Given the description of an element on the screen output the (x, y) to click on. 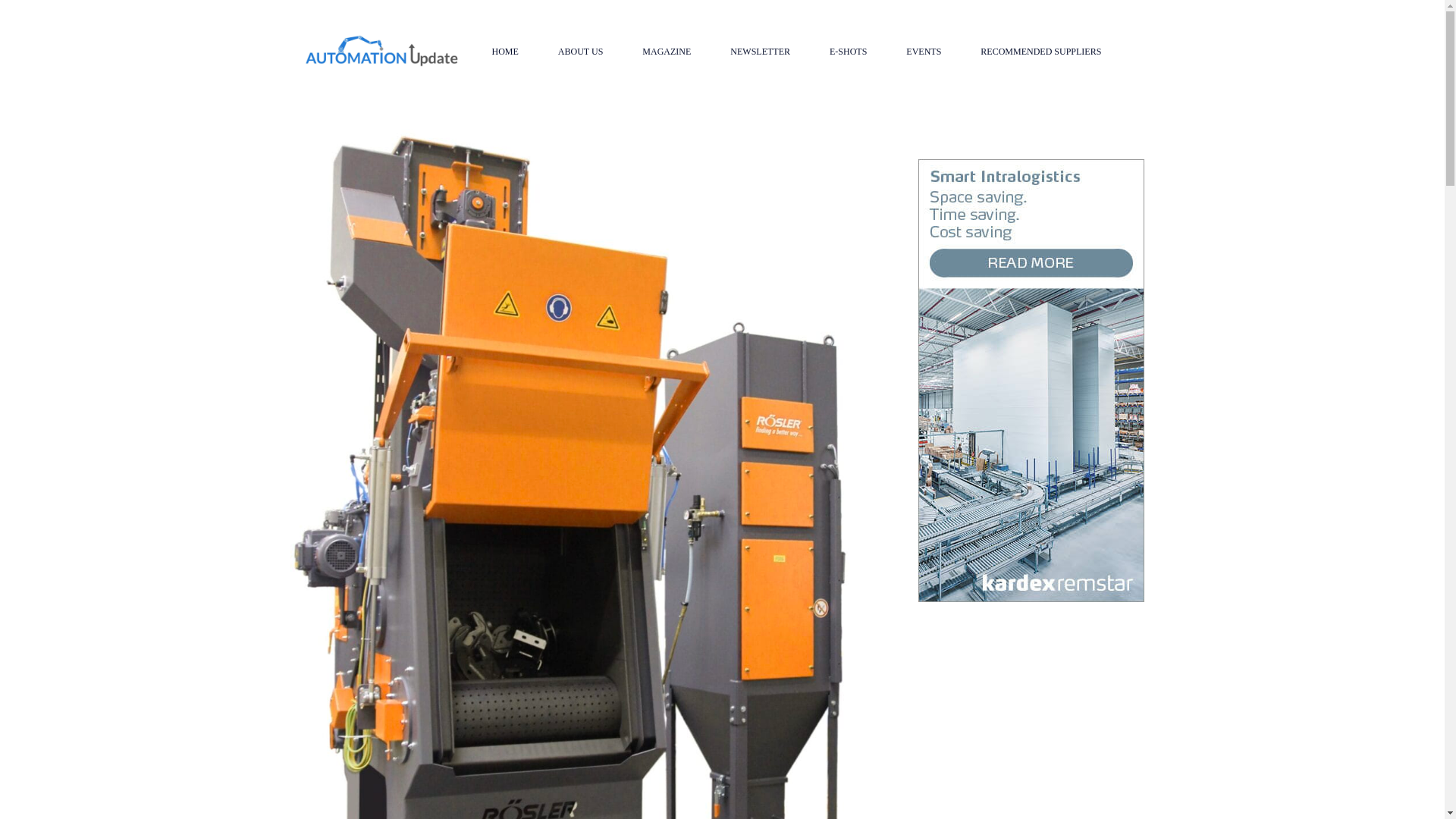
Automation Update (381, 51)
EVENTS (923, 51)
ABOUT US (580, 51)
E-SHOTS (847, 51)
MAGAZINE (666, 51)
HOME (504, 51)
NEWSLETTER (759, 51)
RECOMMENDED SUPPLIERS (1040, 51)
